Given the description of an element on the screen output the (x, y) to click on. 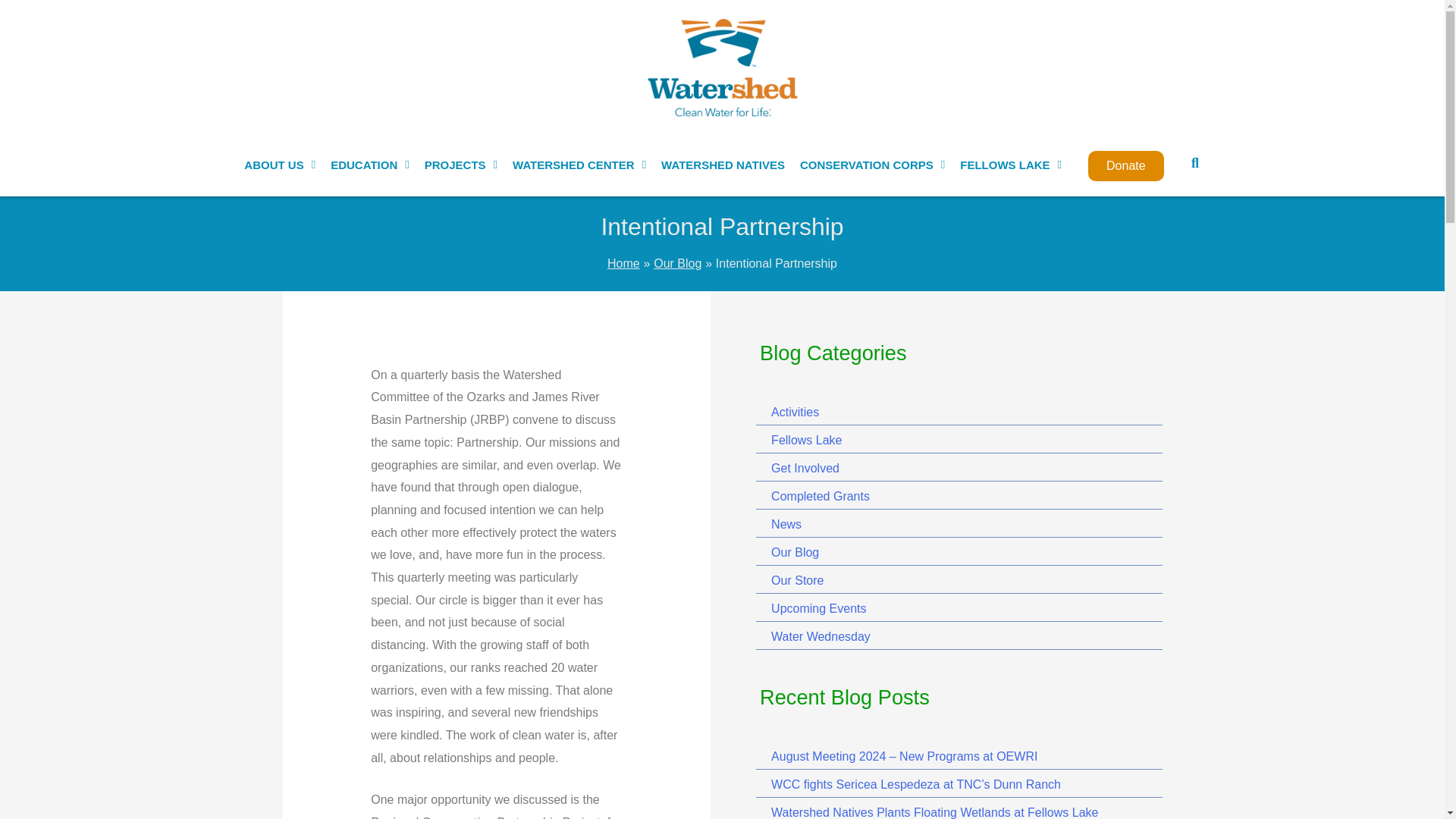
PROJECTS (460, 164)
ABOUT US (279, 164)
EDUCATION (369, 164)
WATERSHED CENTER (579, 164)
